Given the description of an element on the screen output the (x, y) to click on. 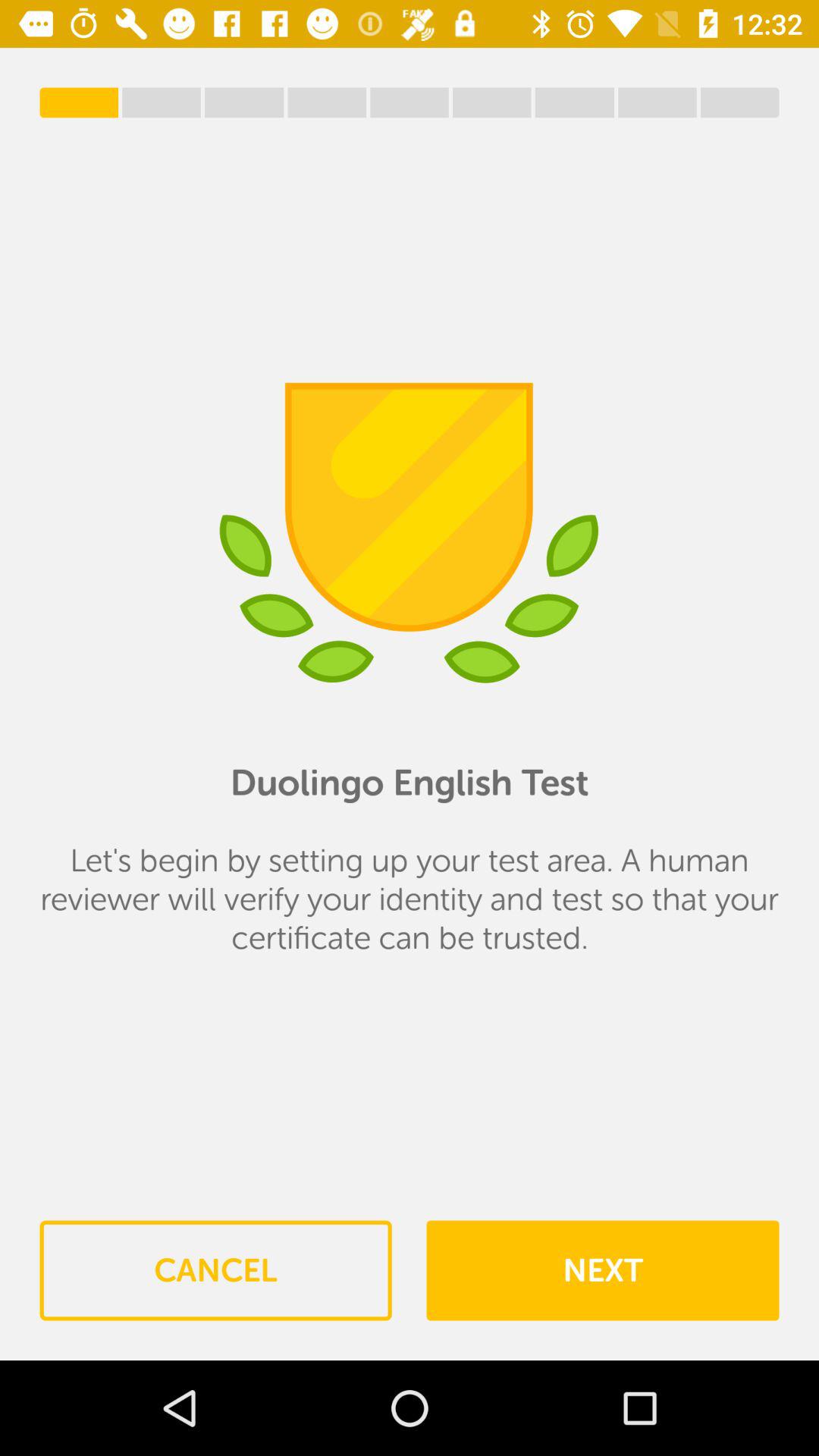
jump to cancel item (215, 1270)
